Given the description of an element on the screen output the (x, y) to click on. 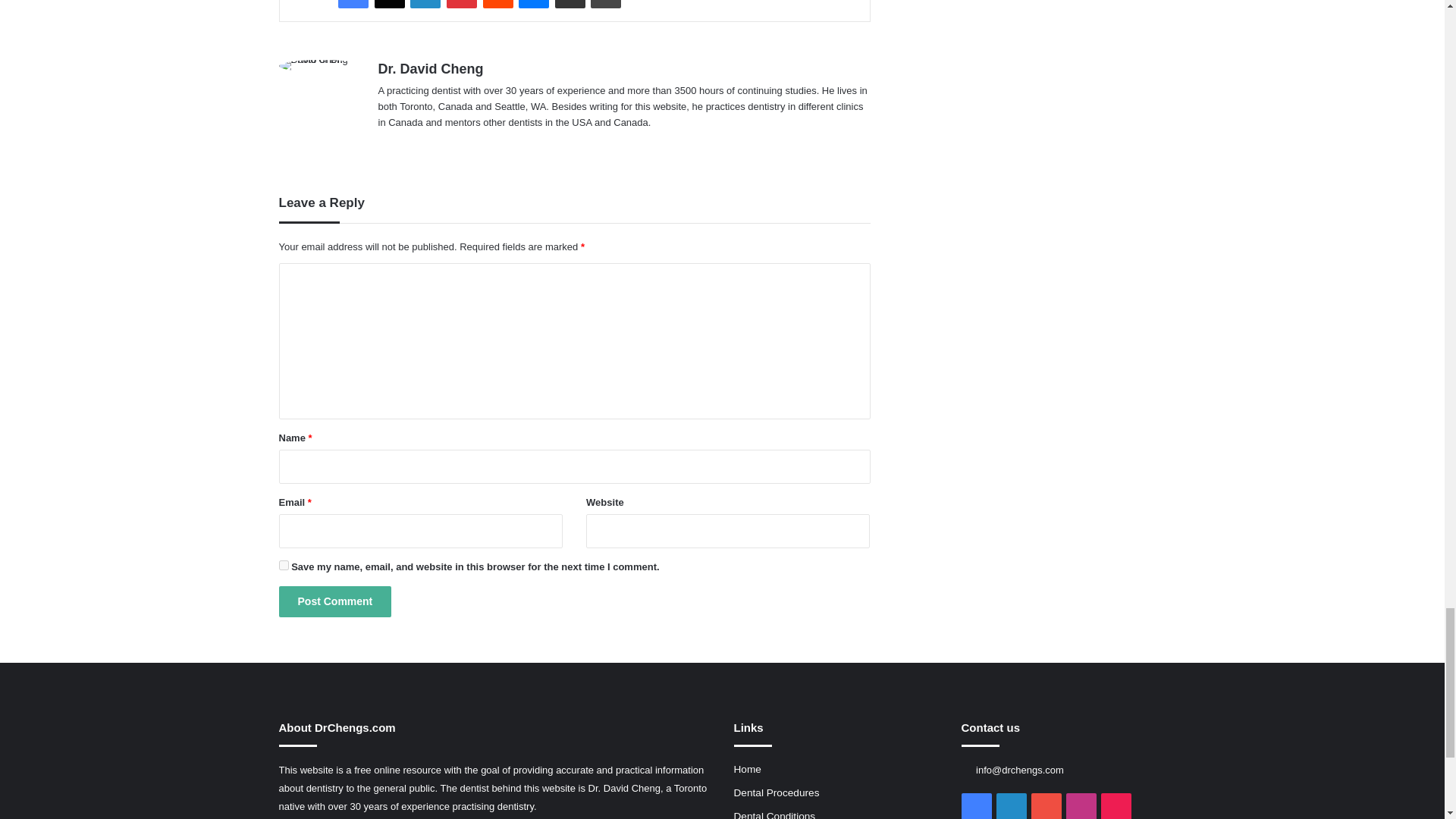
yes (283, 565)
Reddit (496, 4)
Facebook (352, 4)
X (389, 4)
Pinterest (461, 4)
LinkedIn (425, 4)
Post Comment (335, 601)
